Given the description of an element on the screen output the (x, y) to click on. 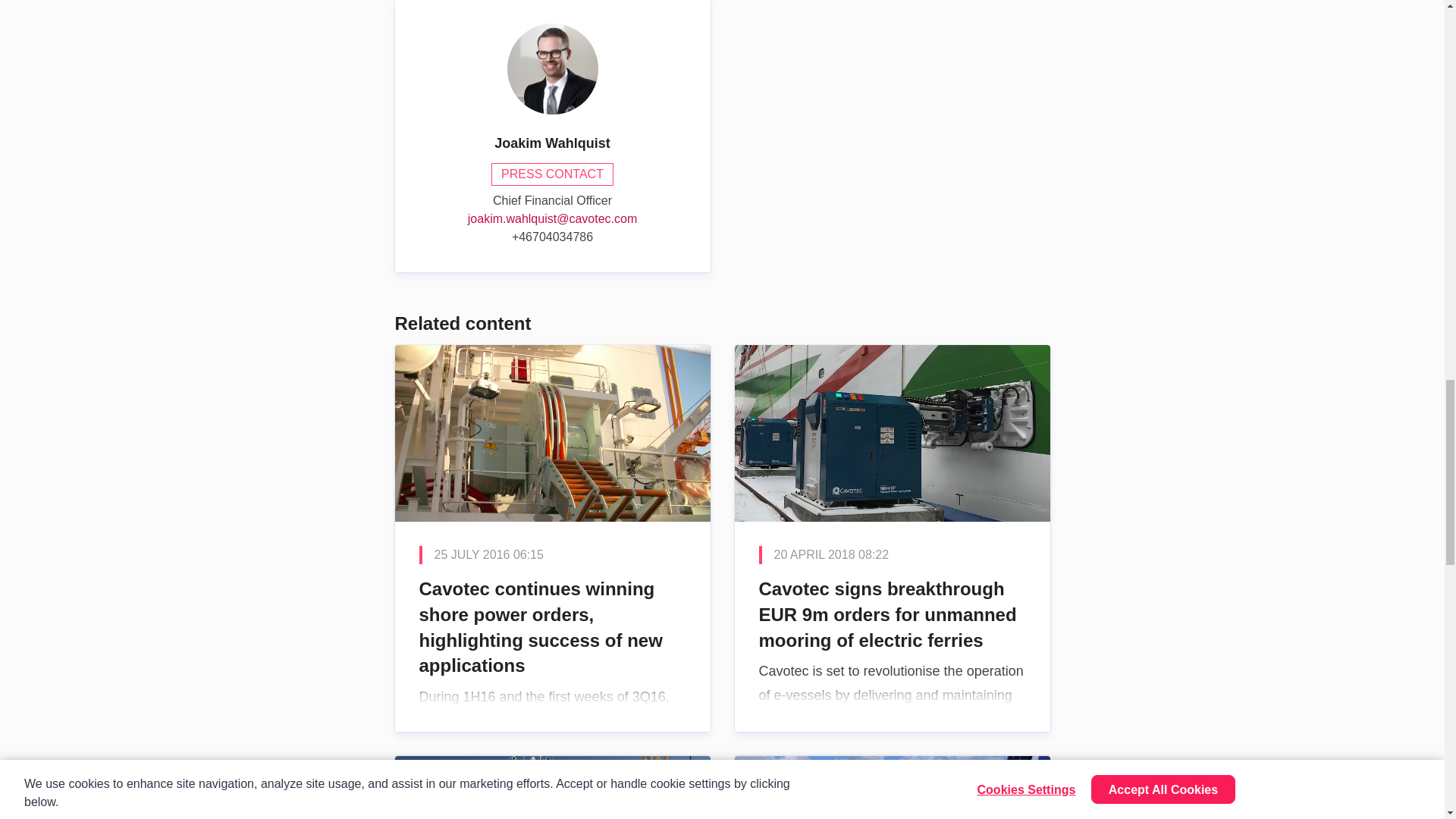
Cavotec co-launches Norwegian shore power initiative (891, 787)
Joint mooring, shore power system wins innovation award (552, 787)
